Given the description of an element on the screen output the (x, y) to click on. 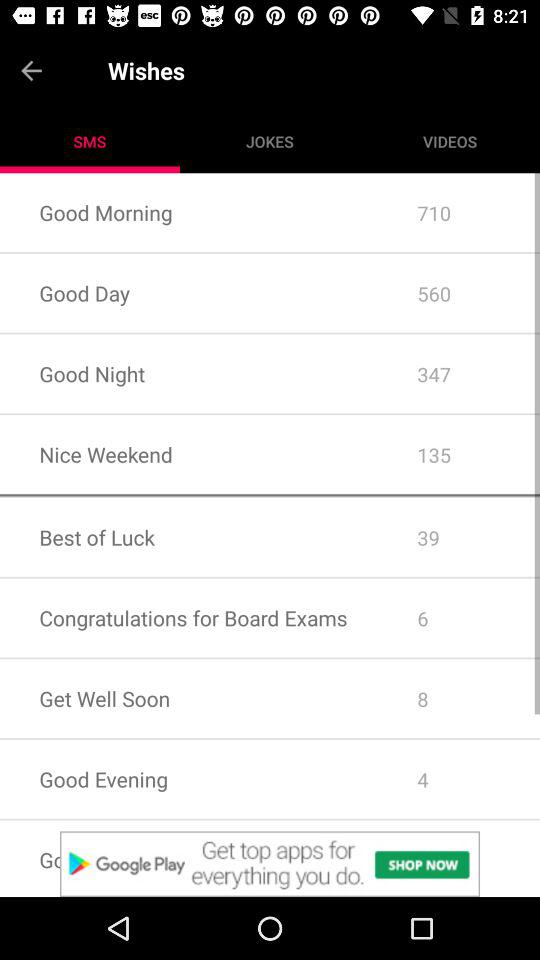
add click for google (270, 864)
